Given the description of an element on the screen output the (x, y) to click on. 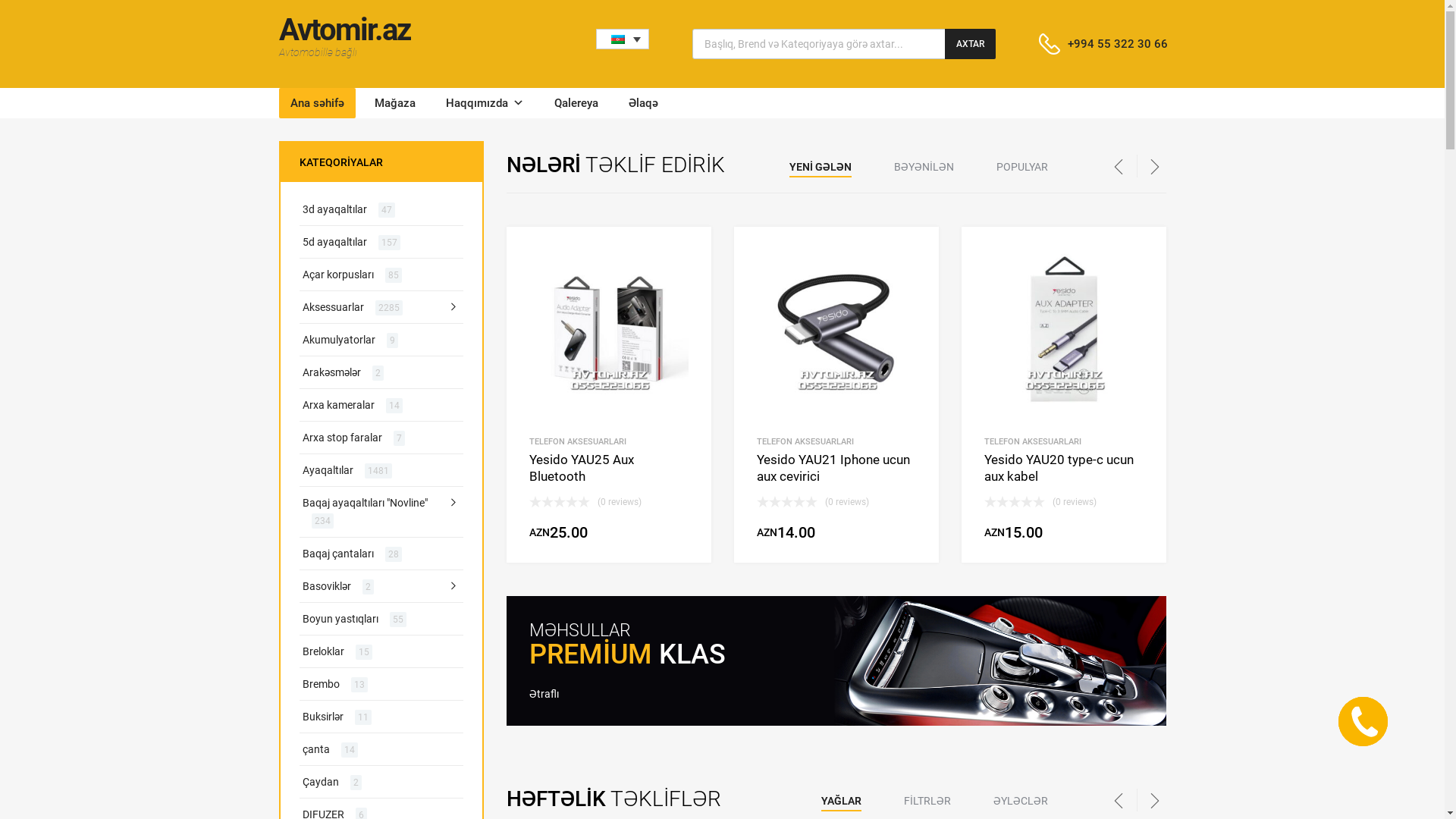
Akumulyatorlar Element type: text (337, 339)
Avtomir.az Element type: text (344, 29)
TELEFON AKSESUARLARI Element type: text (804, 441)
Brembo Element type: text (319, 684)
POPULYAR Element type: text (1022, 166)
Qalereya Element type: text (575, 102)
Breloklar Element type: text (322, 651)
Yesido YAU25 Aux Bluetooth Element type: text (608, 493)
AXTAR Element type: text (969, 43)
+994 55 322 30 66 Element type: text (1104, 43)
Yesido YAU21 Iphone ucun aux cevirici Element type: text (836, 493)
Aksessuarlar Element type: text (332, 307)
Arxa kameralar Element type: text (337, 405)
TELEFON AKSESUARLARI Element type: text (1032, 441)
Yesido YAU20 type-c ucun aux kabel Element type: text (1063, 493)
Arxa stop faralar Element type: text (341, 437)
TELEFON AKSESUARLARI Element type: text (577, 441)
